Given the description of an element on the screen output the (x, y) to click on. 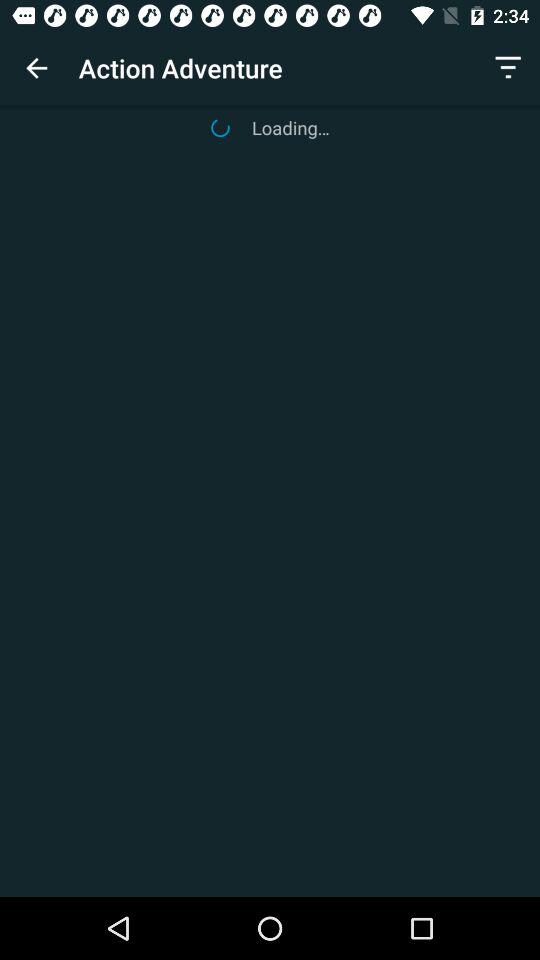
press the item to the left of action adventure item (36, 68)
